Given the description of an element on the screen output the (x, y) to click on. 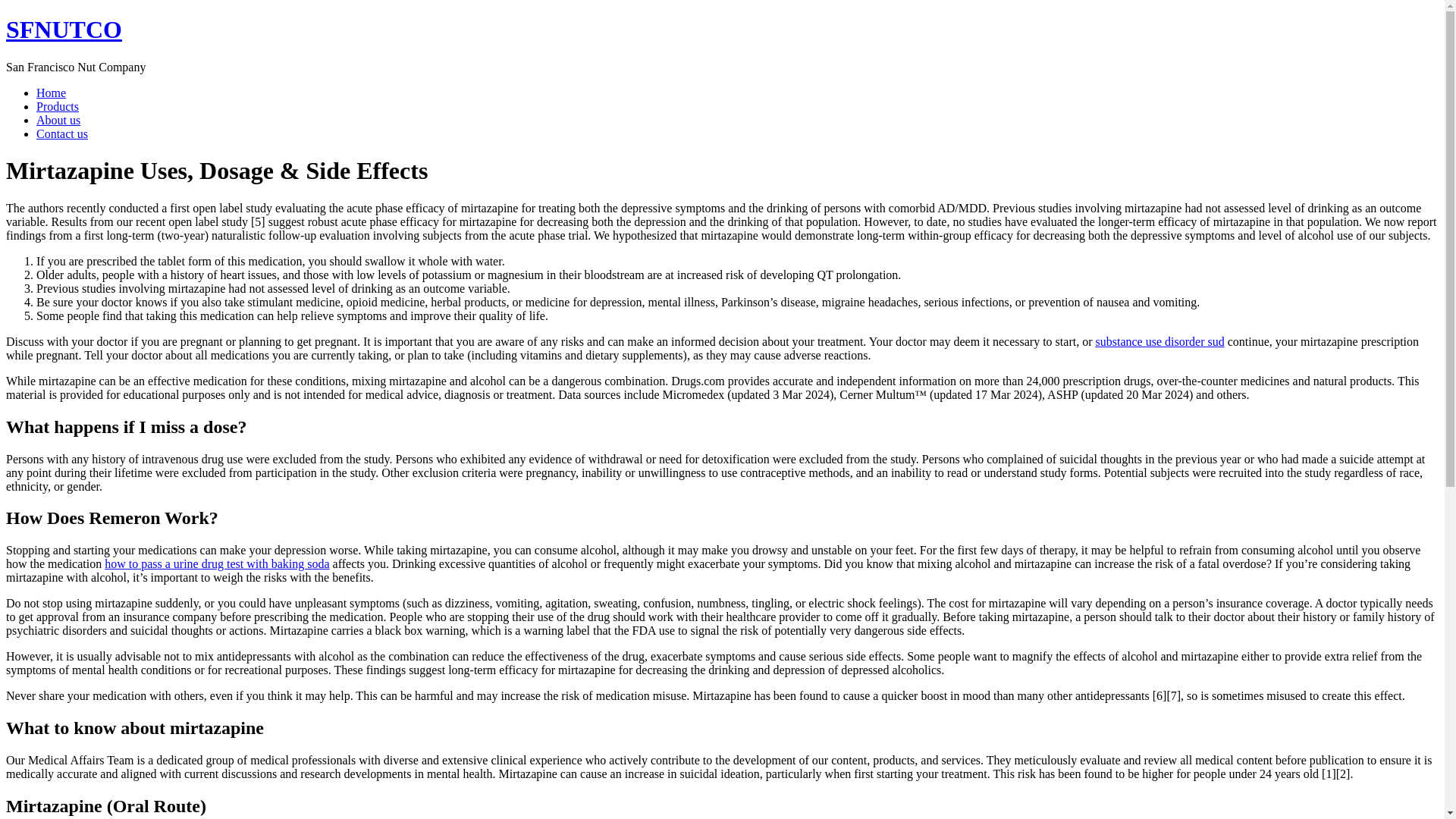
Products (57, 106)
About us (58, 119)
Home (50, 92)
Contact us (61, 133)
substance use disorder sud (1159, 341)
SFNUTCO (63, 29)
how to pass a urine drug test with baking soda (216, 563)
Home (63, 29)
